Given the description of an element on the screen output the (x, y) to click on. 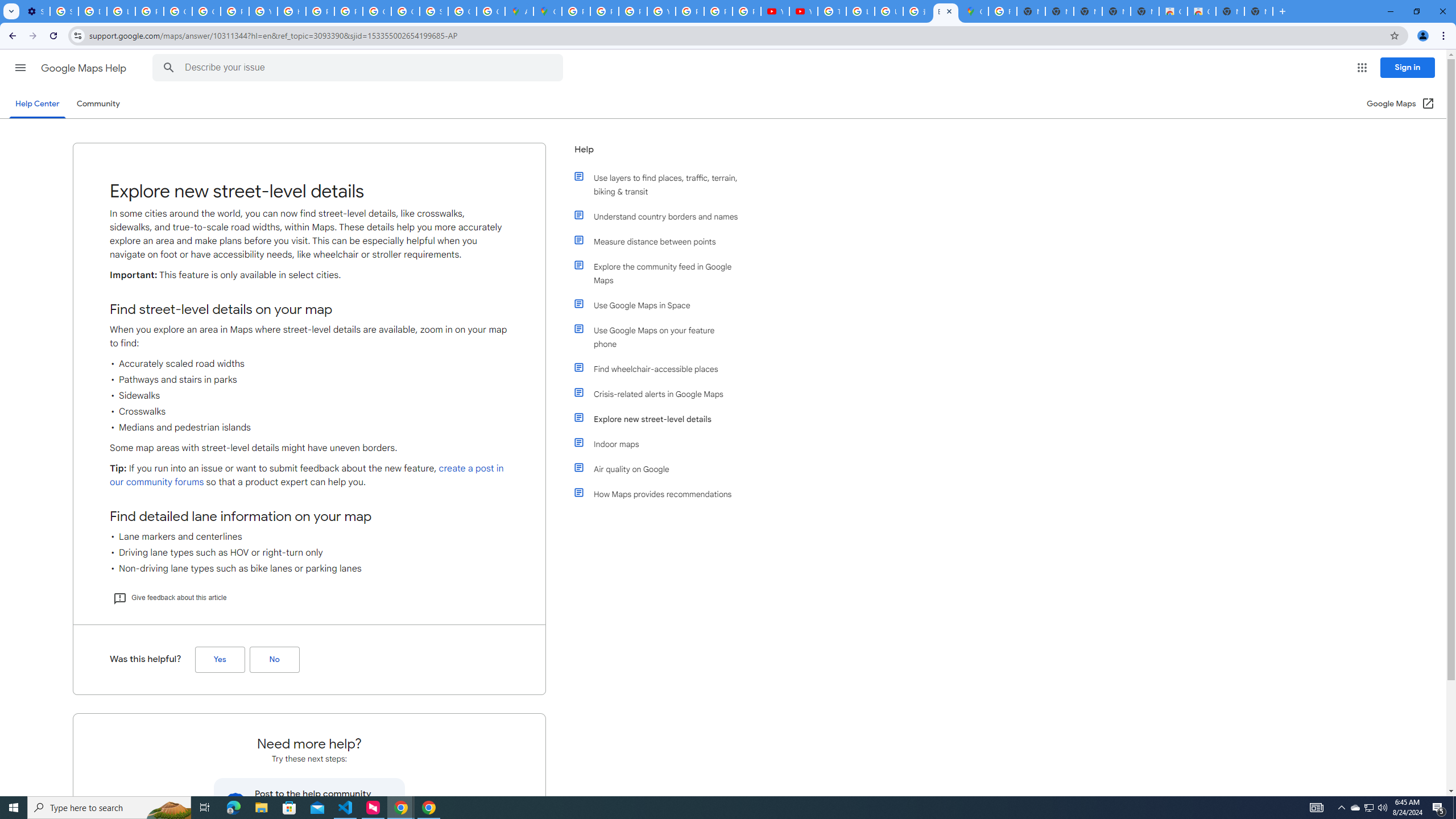
Search Help Center (168, 67)
Settings - On startup (35, 11)
YouTube (803, 11)
Use Google Maps on your feature phone (661, 336)
Privacy Checkup (746, 11)
Sign in - Google Accounts (63, 11)
Google Maps Help (84, 68)
Tips & tricks for Chrome - Google Chrome Help (831, 11)
